Given the description of an element on the screen output the (x, y) to click on. 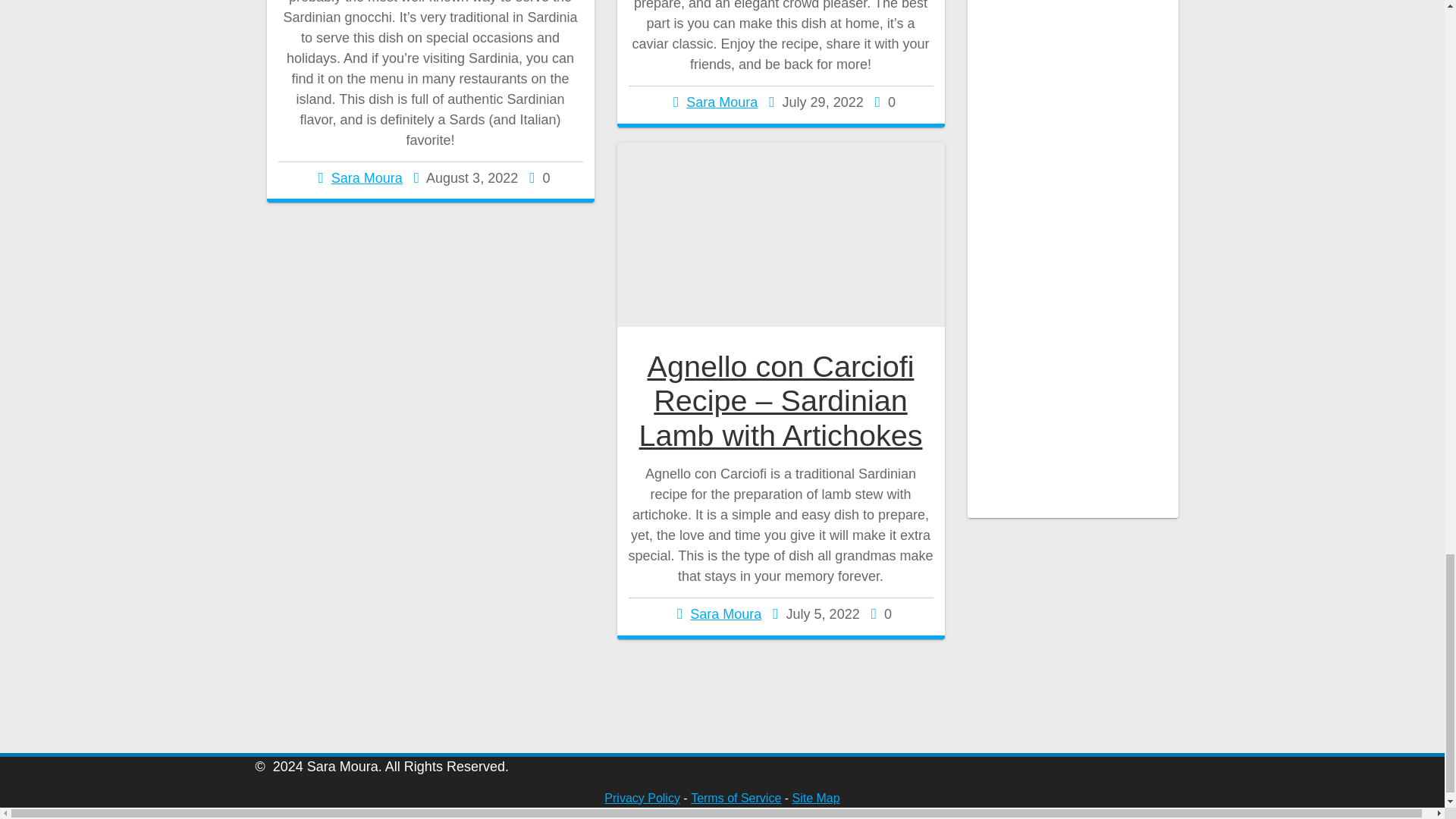
Sara Moura (725, 613)
Posts by Sara Moura (725, 613)
Sara Moura (367, 177)
Sara Moura (721, 102)
Posts by Sara Moura (721, 102)
Posts by Sara Moura (367, 177)
